Given the description of an element on the screen output the (x, y) to click on. 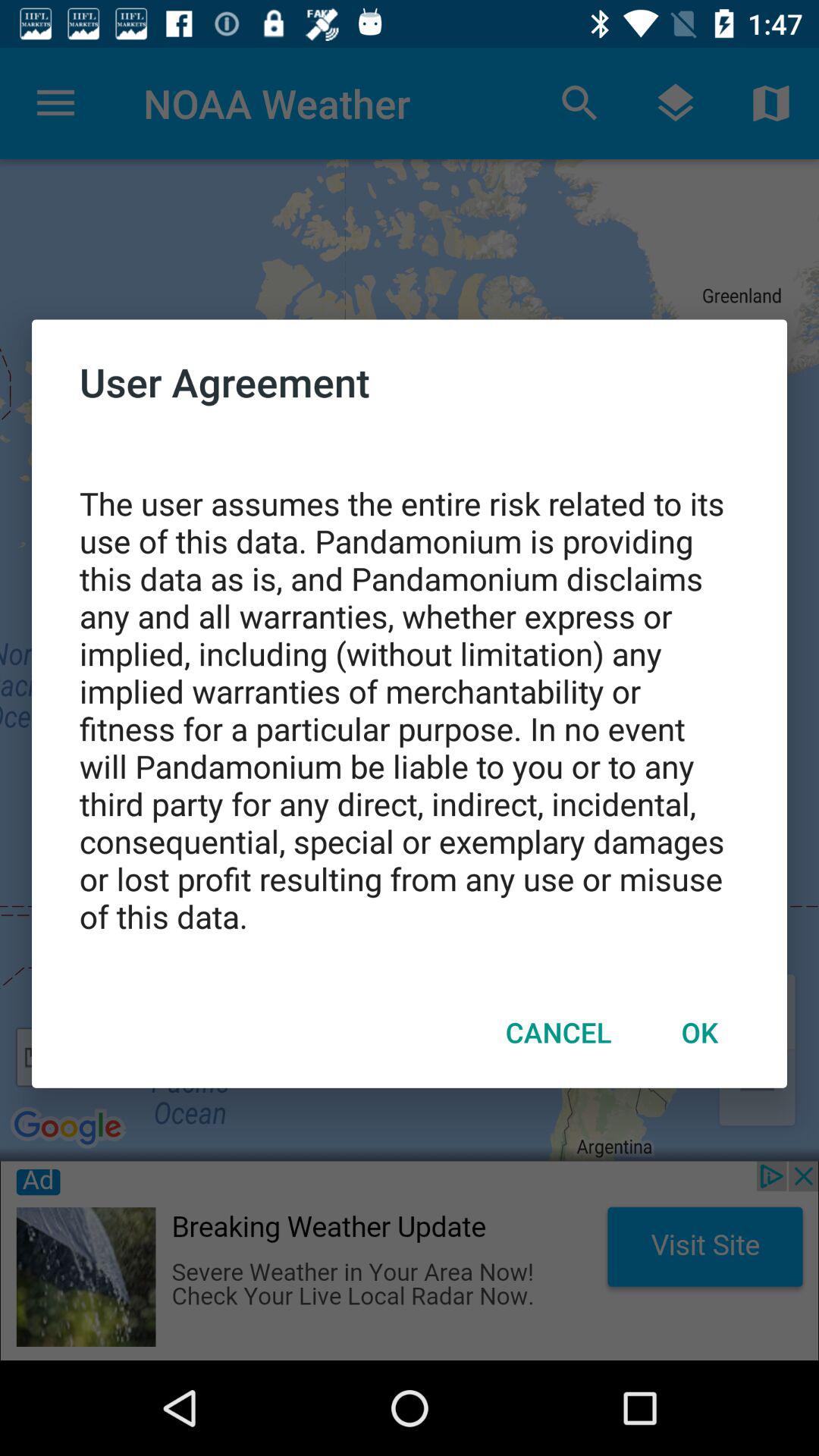
turn off the item below the the user assumes (699, 1032)
